Given the description of an element on the screen output the (x, y) to click on. 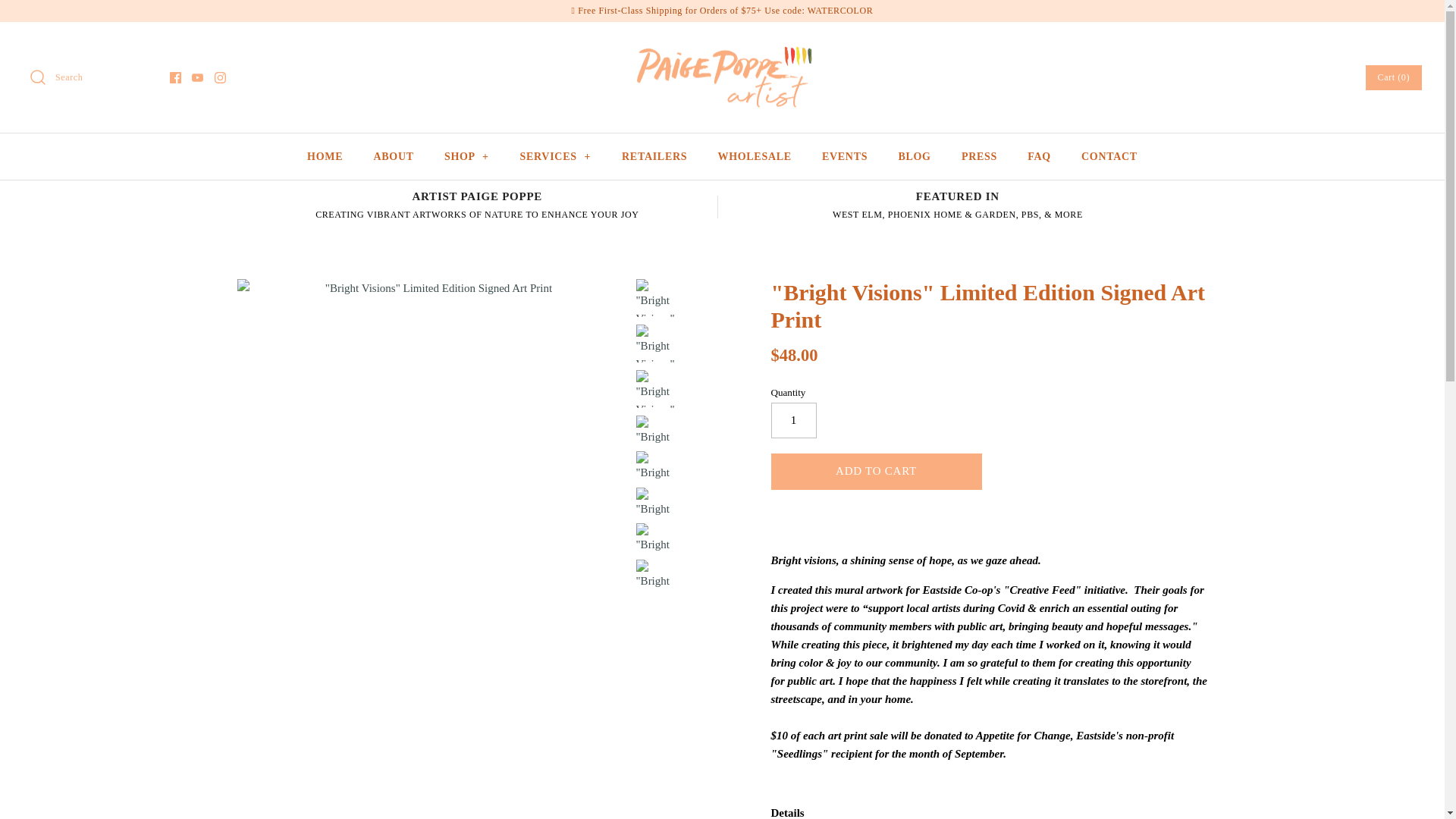
"Bright Visions" Limited Edition Signed Art Print (653, 501)
Youtube (197, 77)
Facebook (175, 77)
Add to Cart (875, 471)
Instagram (219, 77)
Paige Poppe Art (721, 46)
"Bright Visions" Limited Edition Signed Art Print (653, 297)
Facebook (175, 77)
"Bright Visions" Limited Edition Signed Art Print (653, 343)
Instagram (219, 77)
HOME (325, 156)
"Bright Visions" Limited Edition Signed Art Print (653, 573)
1 (792, 420)
Facebook (175, 77)
ABOUT (392, 156)
